Given the description of an element on the screen output the (x, y) to click on. 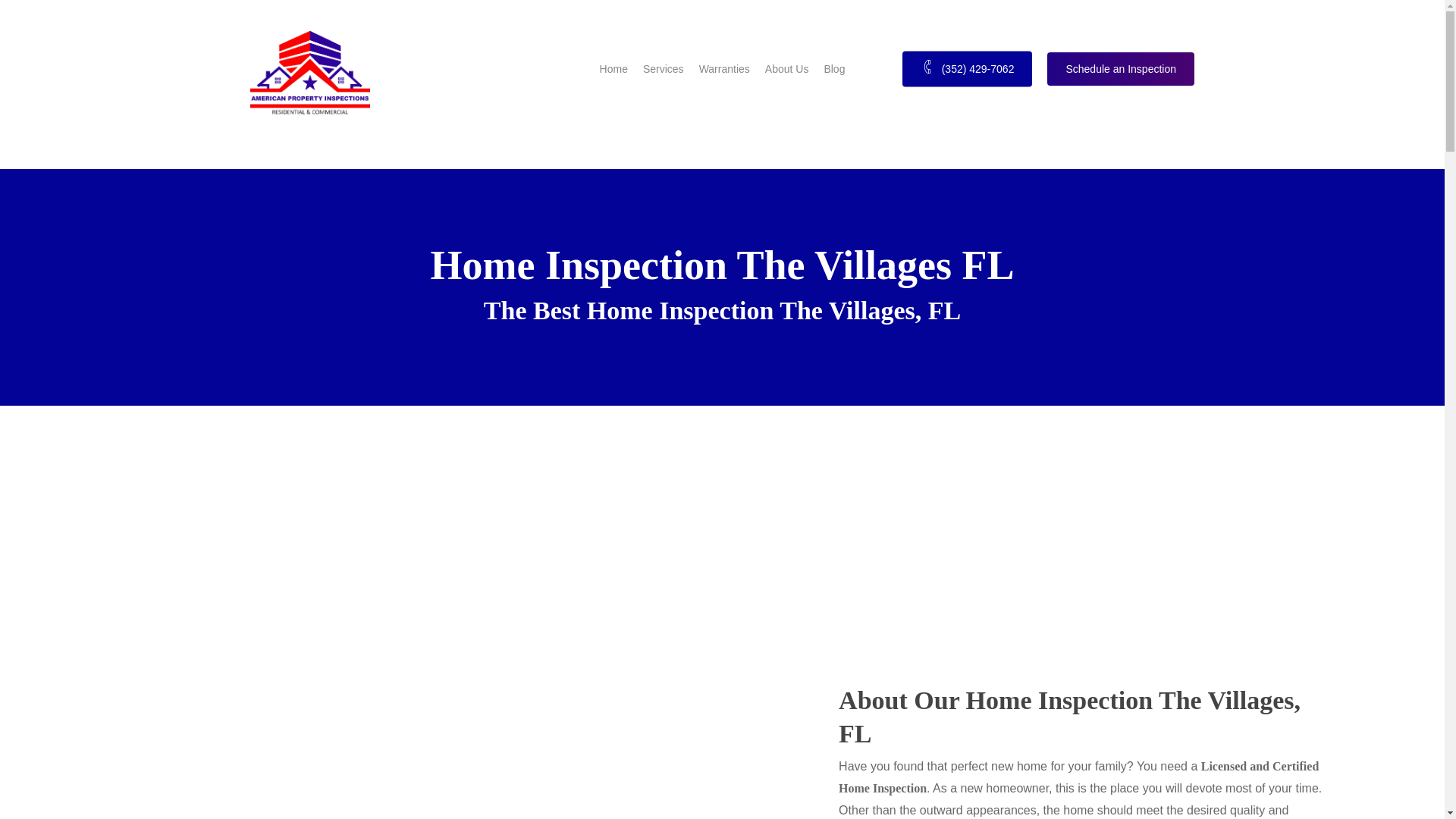
Home (613, 68)
Warranties (723, 68)
About Us (787, 68)
Services (663, 68)
Schedule an Inspection (1119, 68)
Blog (834, 68)
Home Inspection Orlando, FL (613, 68)
